Given the description of an element on the screen output the (x, y) to click on. 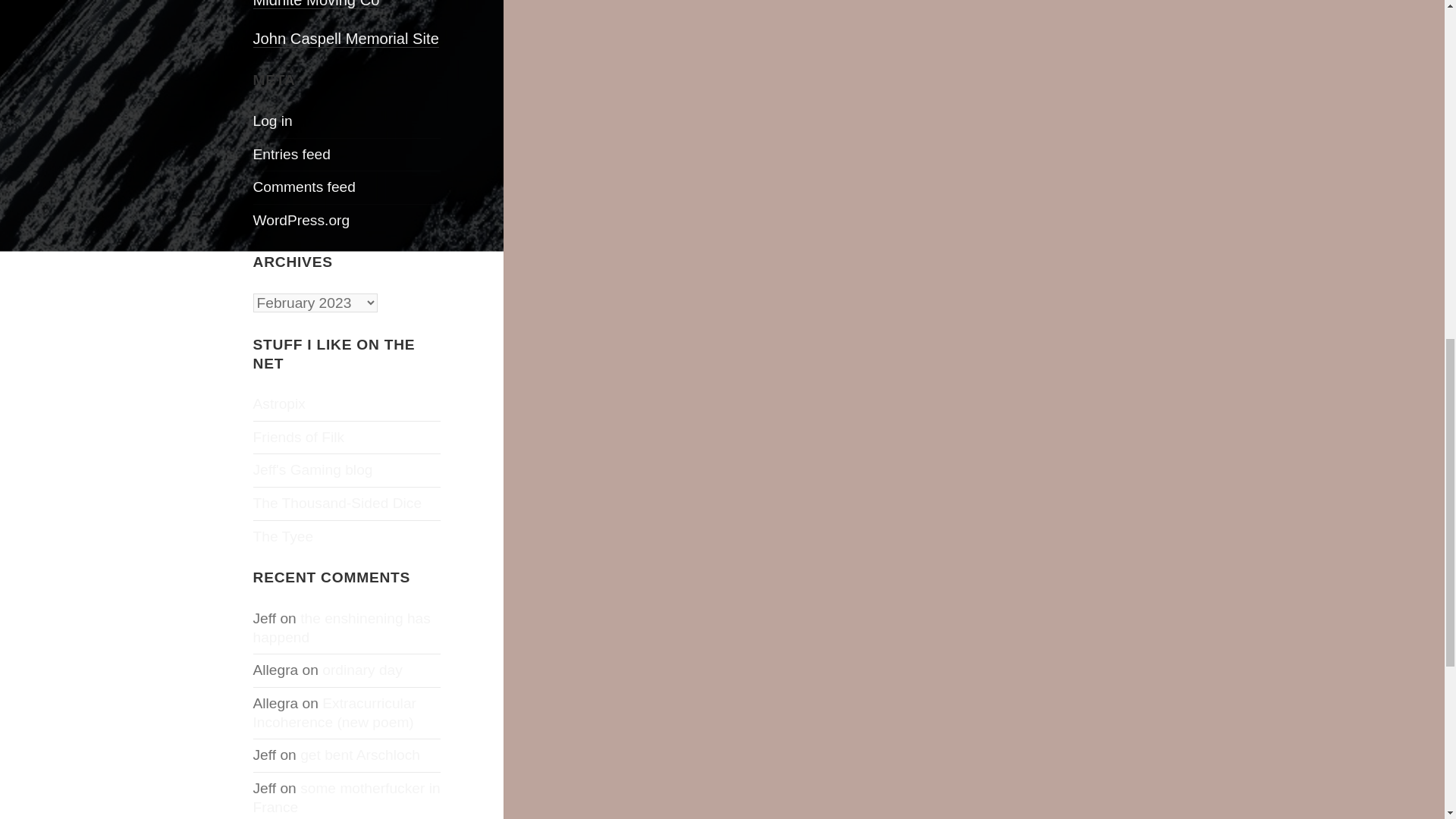
Midnite Moving Co (316, 4)
Log in (272, 120)
John Caspell Memorial Site (346, 39)
The Tyee (283, 536)
Friends of Filk (298, 437)
Entries feed (291, 154)
Astropix (279, 403)
Comments feed (304, 186)
Jeff's Gaming blog (312, 469)
the enshinening has happend (341, 627)
get bent Arschloch (359, 754)
some motherfucker in France (347, 797)
WordPress.org (301, 220)
The Thousand-Sided Dice (337, 503)
